Given the description of an element on the screen output the (x, y) to click on. 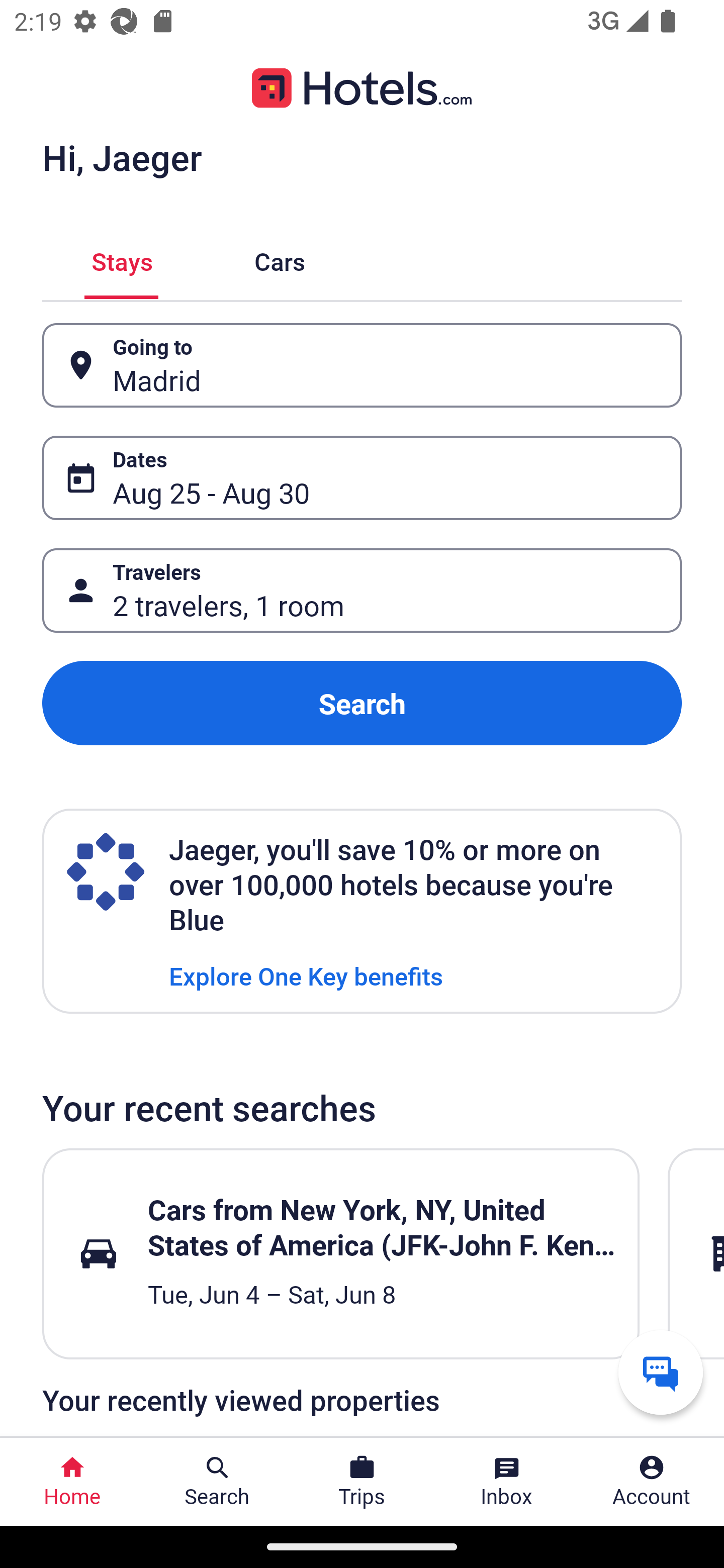
Hi, Jaeger (121, 156)
Cars (279, 259)
Going to Button Madrid (361, 365)
Dates Button Aug 25 - Aug 30 (361, 477)
Travelers Button 2 travelers, 1 room (361, 590)
Search (361, 702)
Get help from a virtual agent (660, 1371)
Search Search Button (216, 1481)
Trips Trips Button (361, 1481)
Inbox Inbox Button (506, 1481)
Account Profile. Button (651, 1481)
